Given the description of an element on the screen output the (x, y) to click on. 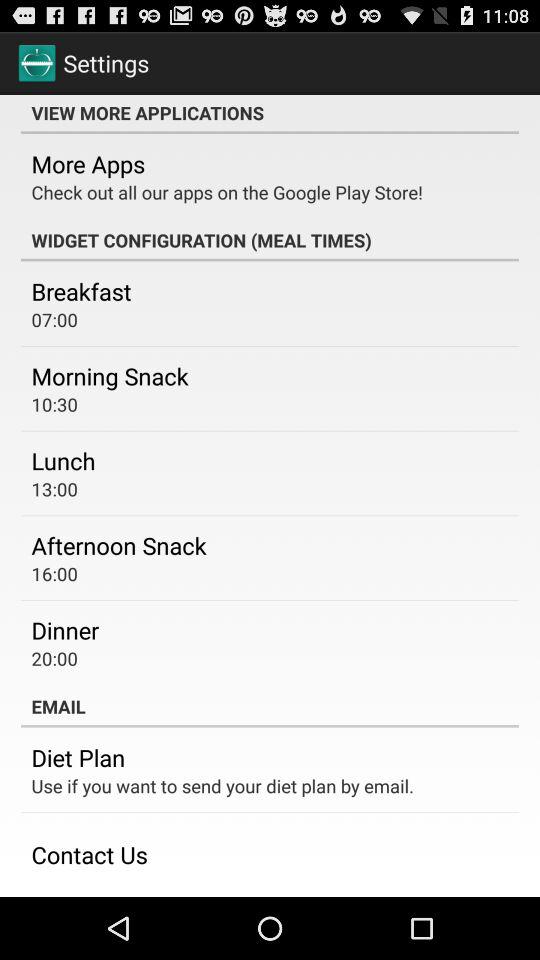
turn off icon below the widget configuration meal (81, 291)
